Given the description of an element on the screen output the (x, y) to click on. 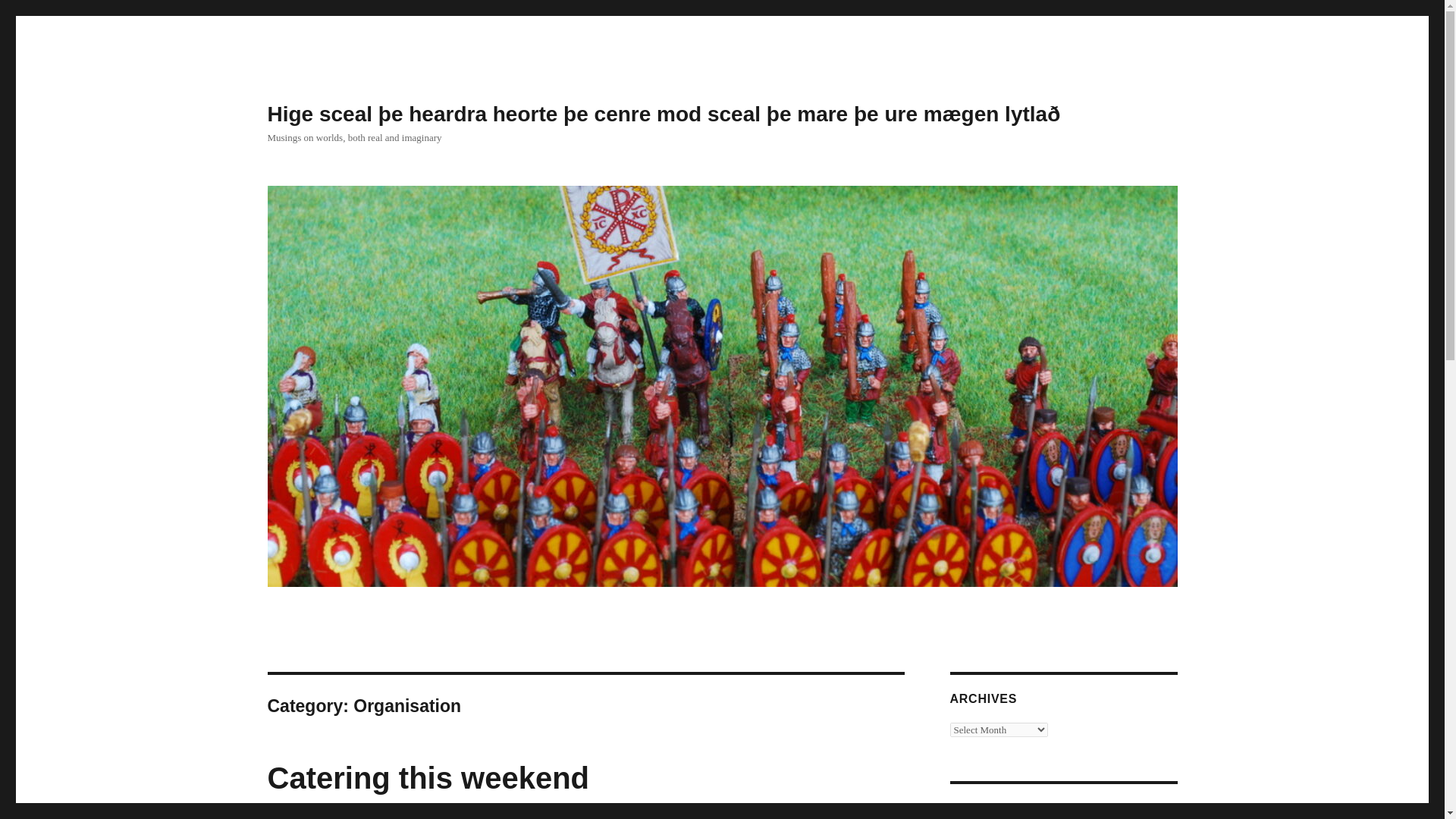
Catering this weekend (427, 777)
